Given the description of an element on the screen output the (x, y) to click on. 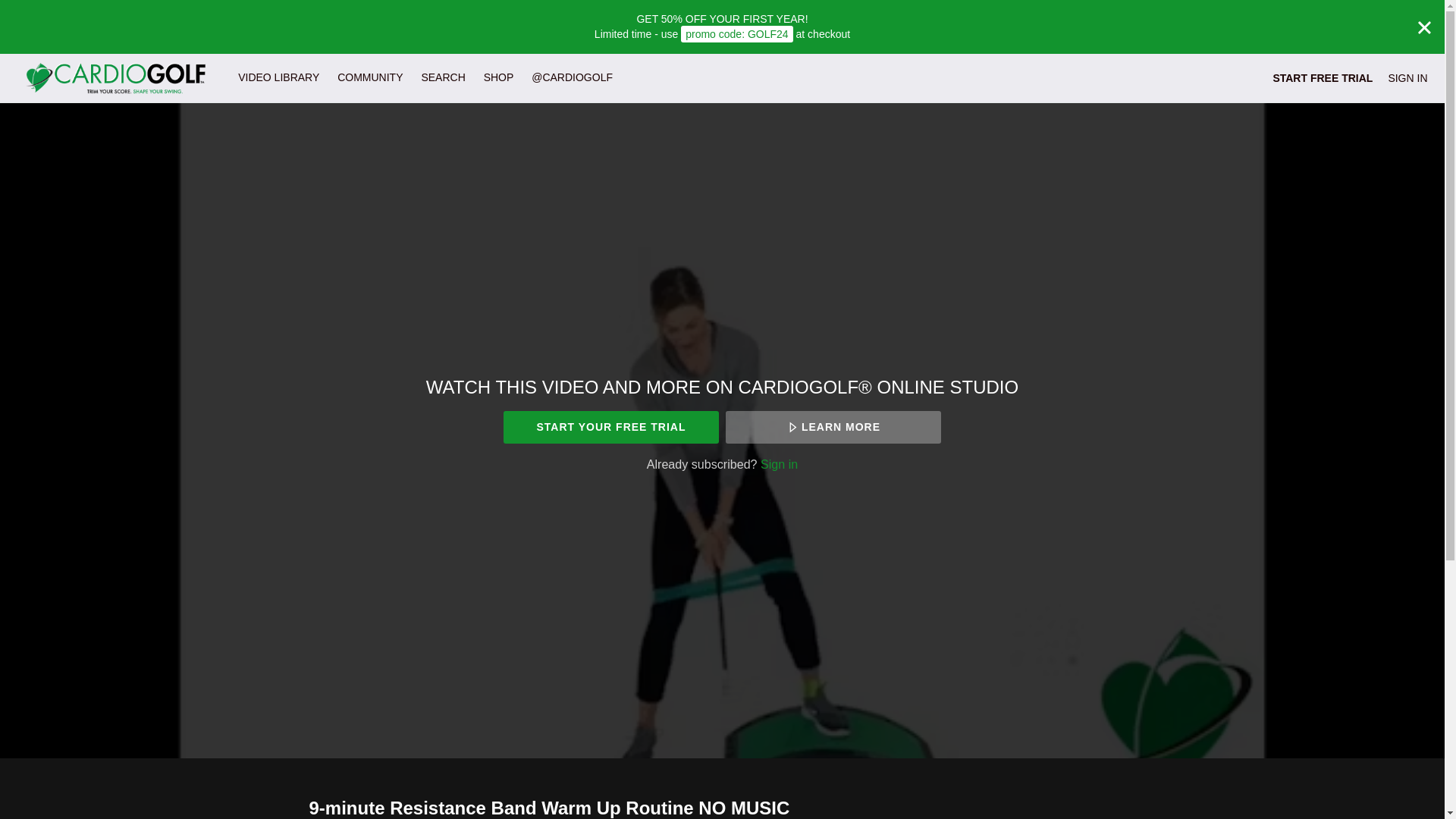
START FREE TRIAL (1322, 78)
VIDEO LIBRARY (278, 77)
Skip to main content (48, 7)
SHOP (498, 77)
SIGN IN (1406, 78)
LEARN MORE (832, 427)
SEARCH (444, 77)
START YOUR FREE TRIAL (610, 427)
COMMUNITY (370, 77)
Sign in (778, 463)
